Given the description of an element on the screen output the (x, y) to click on. 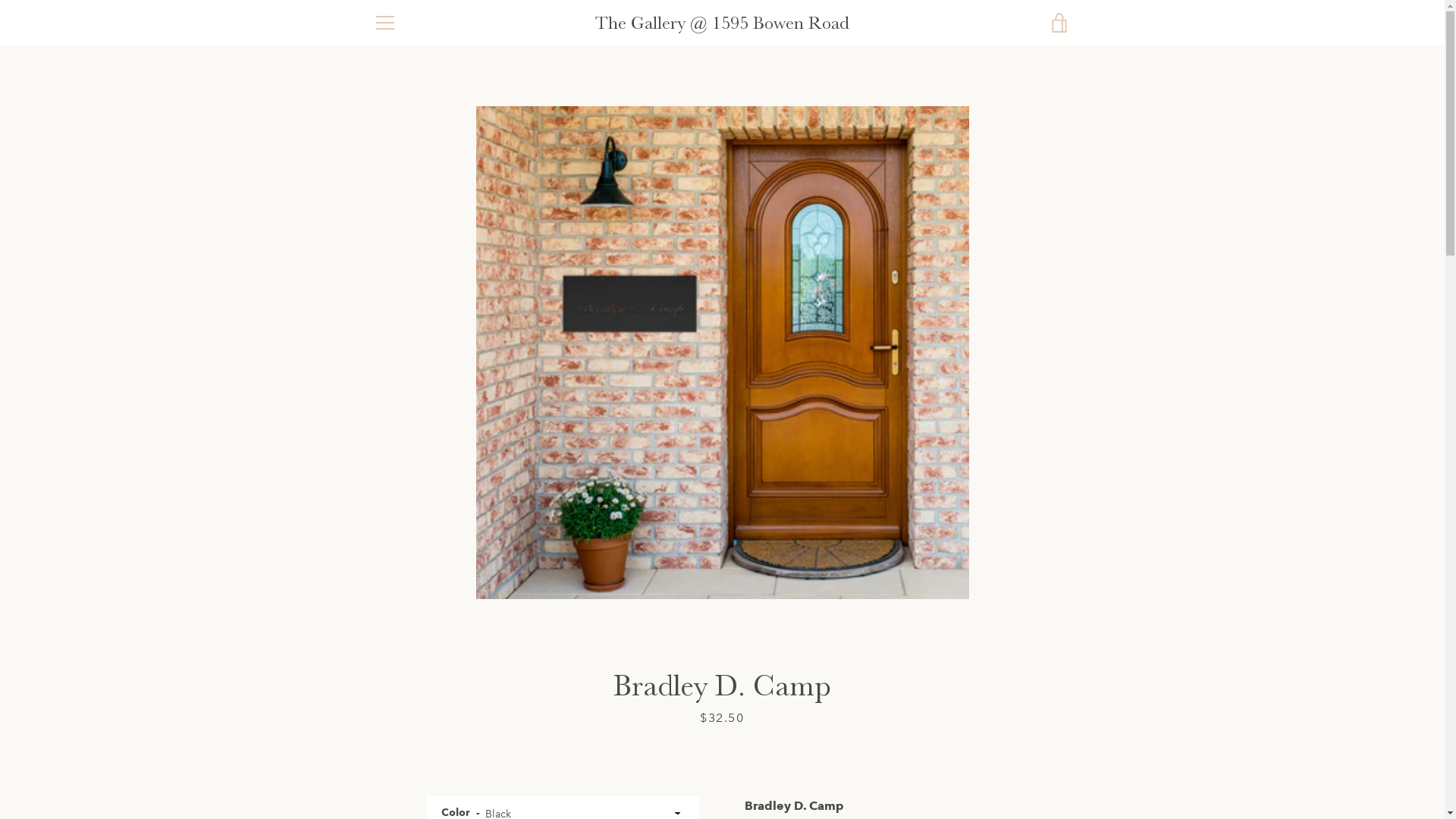
TERMS OF SERVICE Element type: text (421, 652)
CONTACT Element type: text (397, 696)
The Gallery @ 1595 Bowen Road Element type: text (722, 23)
Powered by Shopify Element type: text (721, 776)
Skip to content Element type: text (0, 0)
PRIVACY POLICY Element type: text (416, 630)
SEARCH Element type: text (393, 607)
VIEW CART Element type: text (1059, 22)
MENU Element type: text (384, 22)
REFUND POLICY Element type: text (414, 674)
SUBSCRIBE Element type: text (1031, 677)
The Gallery @ 1595 Bowen Road Element type: text (764, 756)
